Given the description of an element on the screen output the (x, y) to click on. 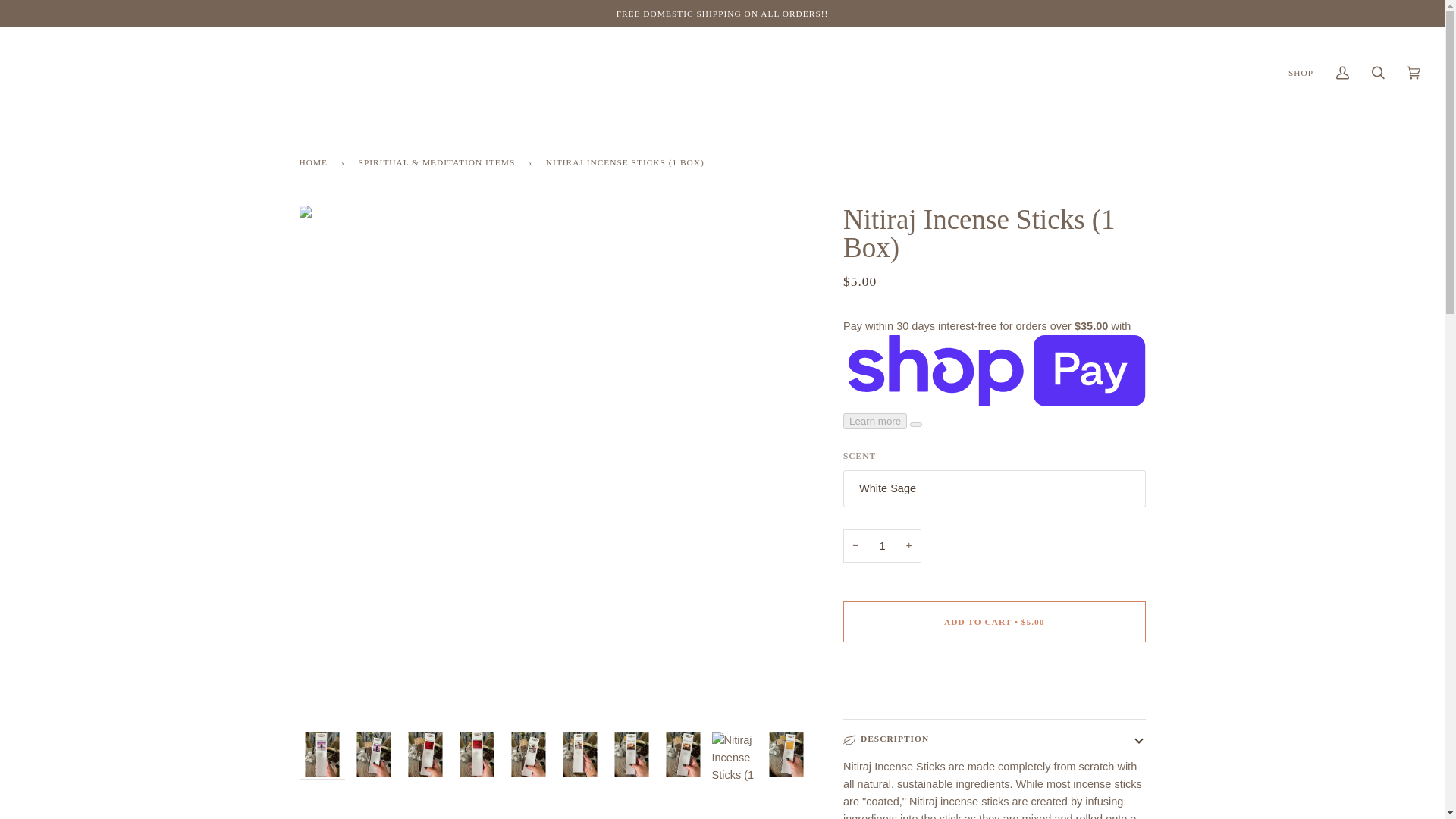
Search (1377, 72)
SHOP (1300, 72)
My Account (1341, 72)
Back to the frontpage (315, 161)
1 (882, 546)
